Given the description of an element on the screen output the (x, y) to click on. 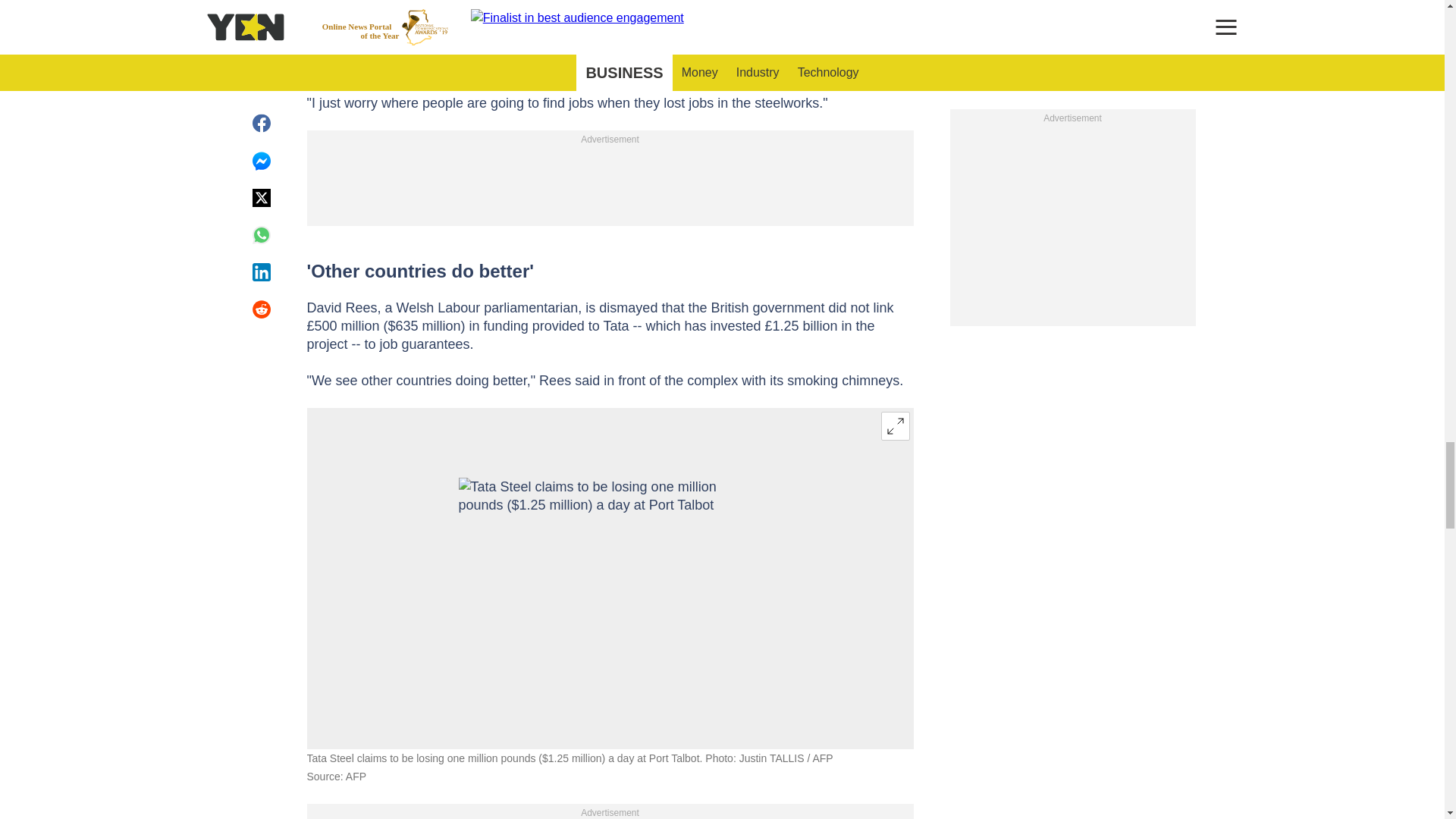
Expand image (895, 425)
